Given the description of an element on the screen output the (x, y) to click on. 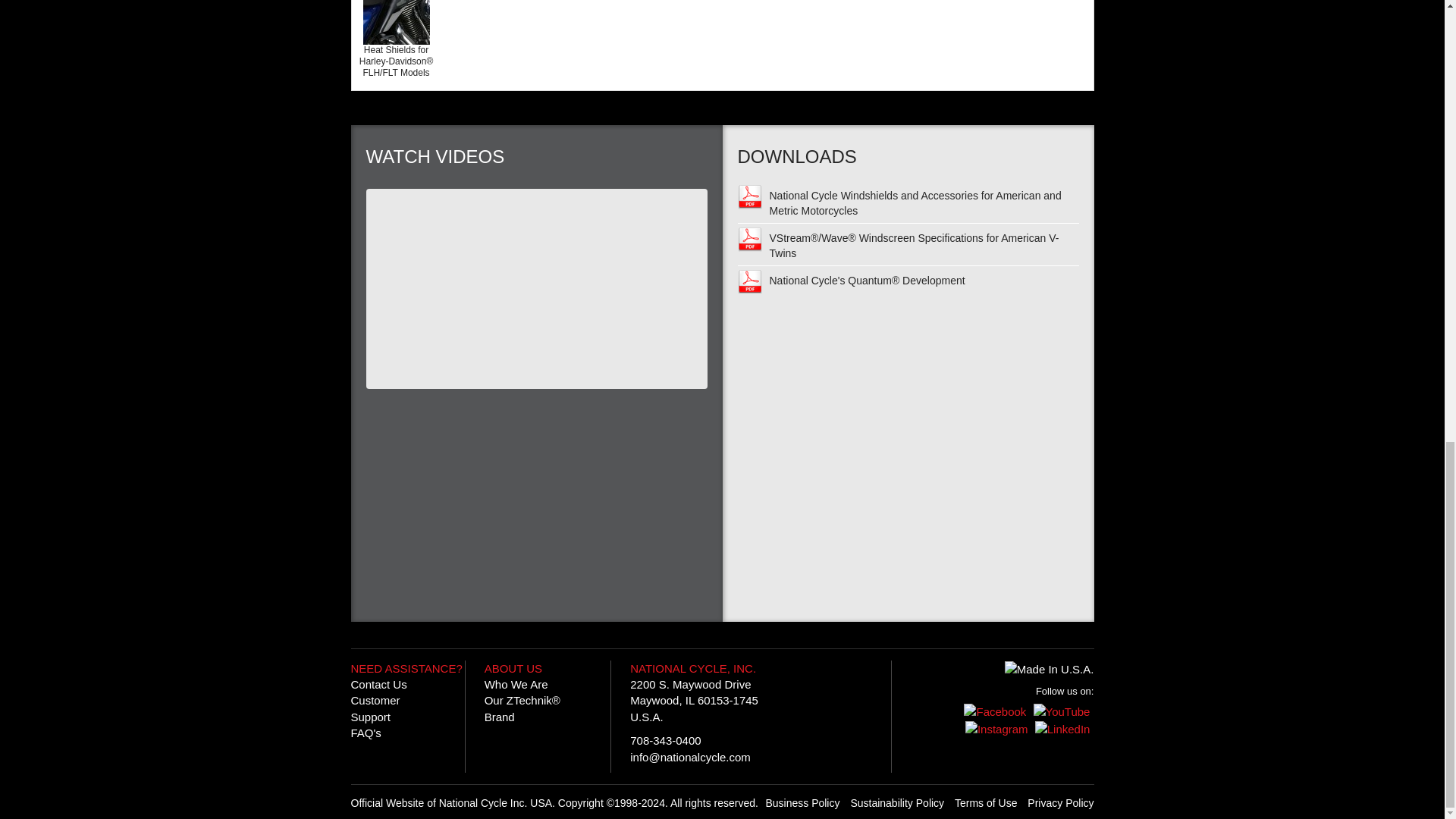
Terms of Use (802, 802)
Terms of Use (896, 802)
